Given the description of an element on the screen output the (x, y) to click on. 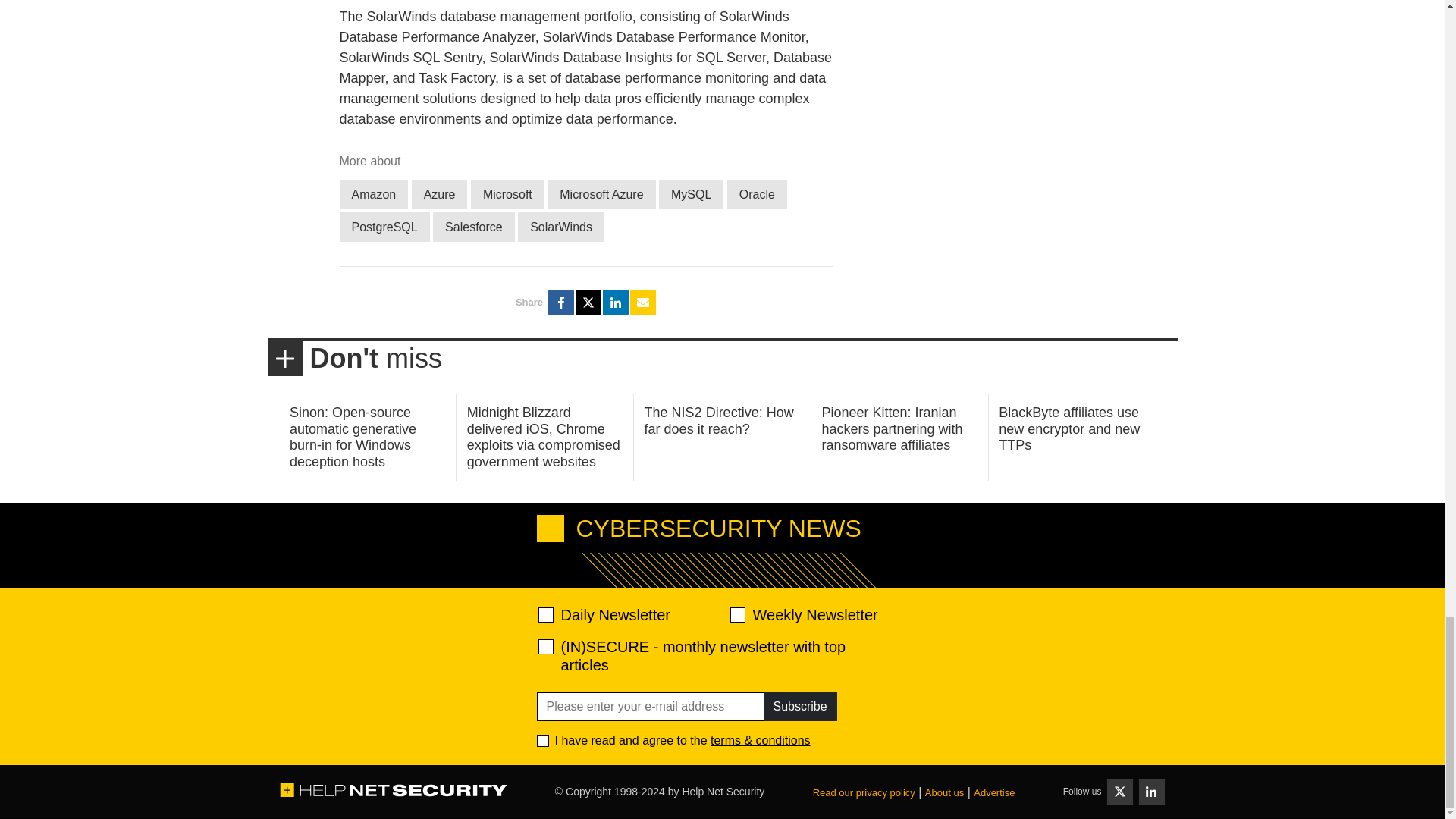
Salesforce (473, 226)
Microsoft (507, 194)
1 (542, 740)
Salesforce (473, 226)
PostgreSQL (384, 226)
Azure (439, 194)
Microsoft Azure (601, 194)
Azure (439, 194)
MySQL (691, 194)
SolarWinds (561, 226)
